Given the description of an element on the screen output the (x, y) to click on. 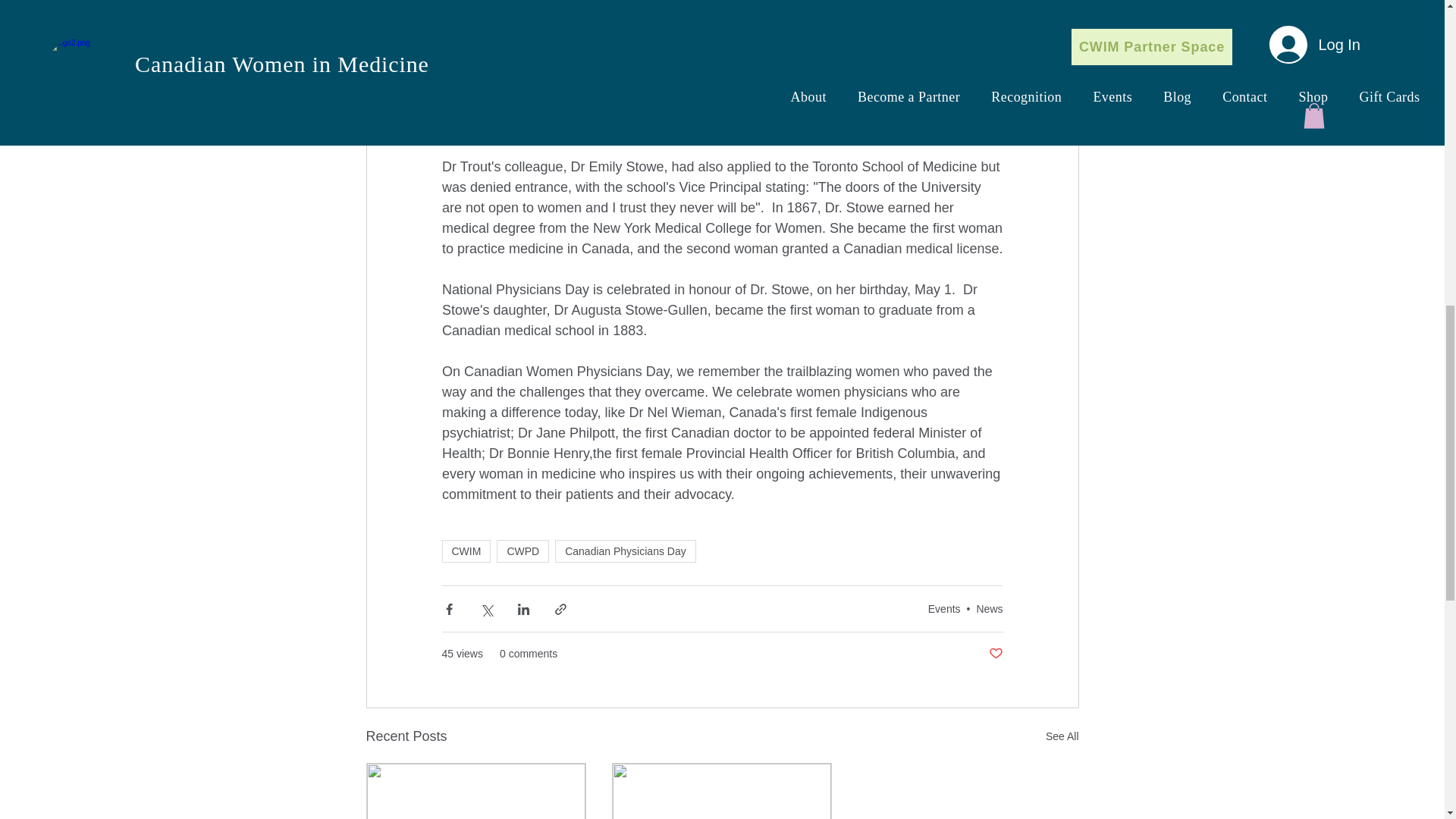
Canadian Physicians Day (624, 550)
CWIM (465, 550)
Events (944, 607)
Post not marked as liked (995, 653)
CWPD (522, 550)
News (989, 607)
See All (1061, 736)
